Given the description of an element on the screen output the (x, y) to click on. 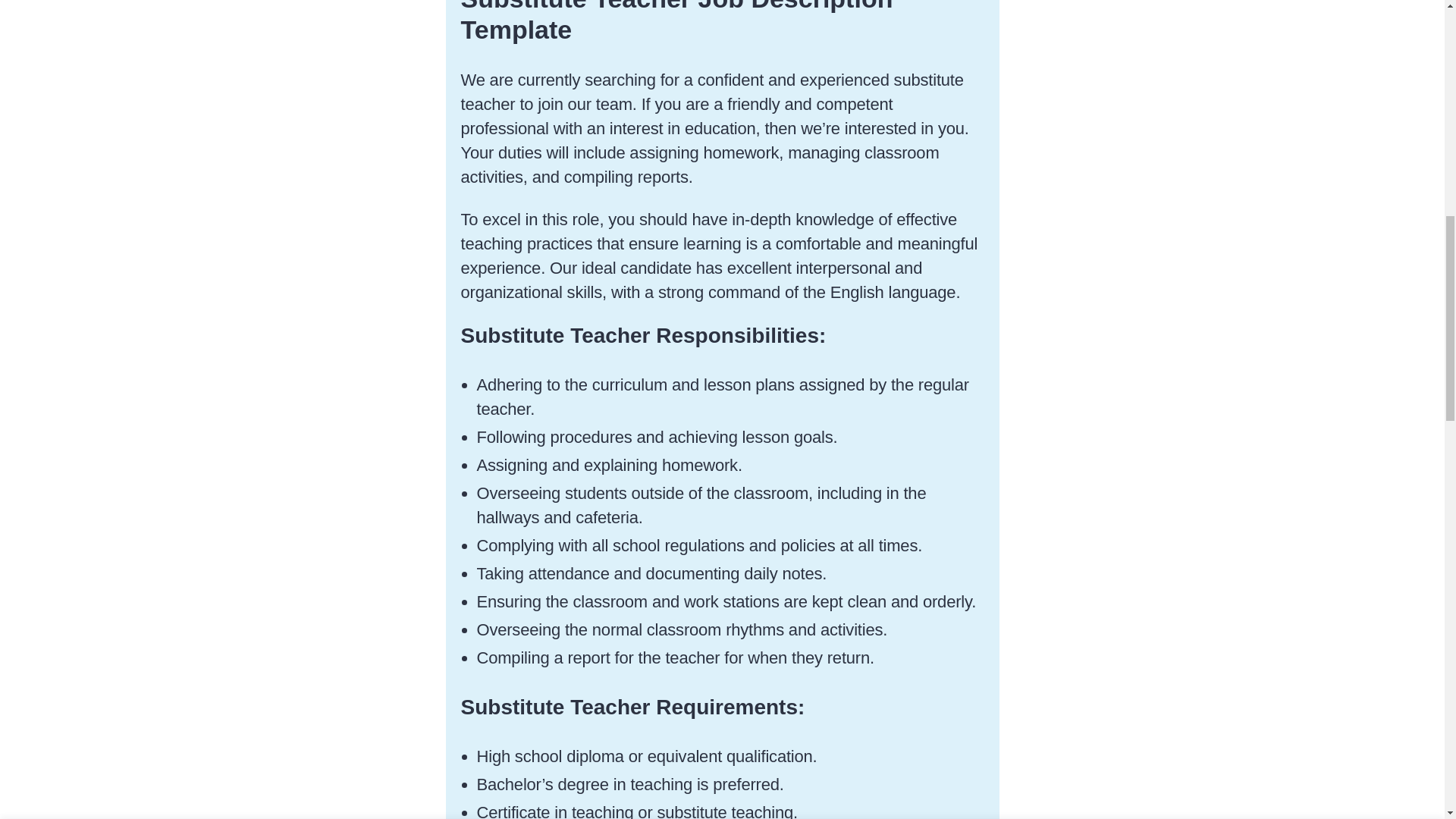
Post a Job (722, 24)
